Given the description of an element on the screen output the (x, y) to click on. 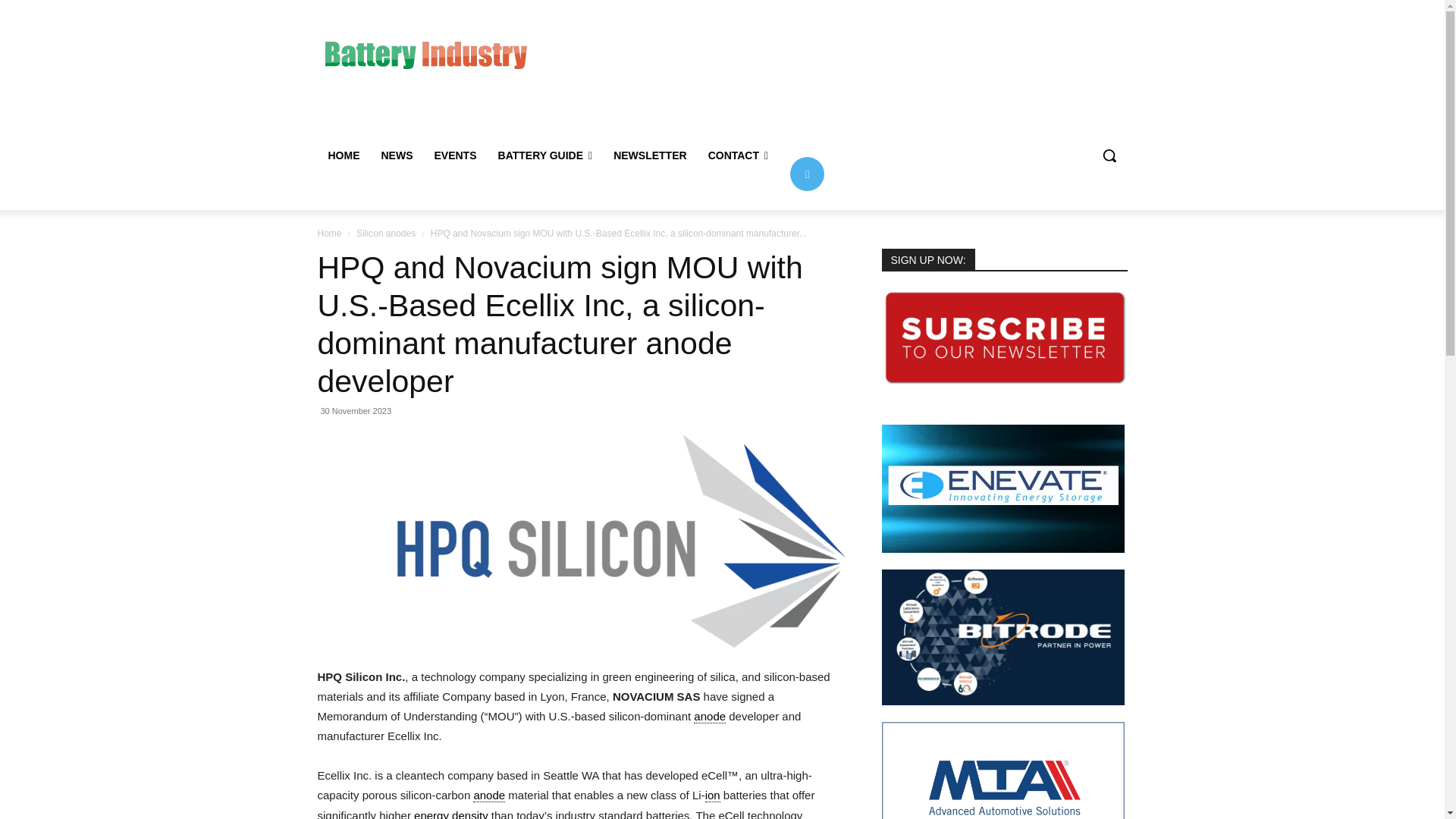
Glossary: Anode (489, 795)
View all posts in Silicon anodes (385, 233)
EVENTS (454, 155)
Glossary: Anode (709, 716)
NEWS (396, 155)
Glossary: Energy density (450, 814)
Linkedin (807, 173)
Glossary: Ion (712, 795)
BATTERY GUIDE (545, 155)
HOME (343, 155)
